Given the description of an element on the screen output the (x, y) to click on. 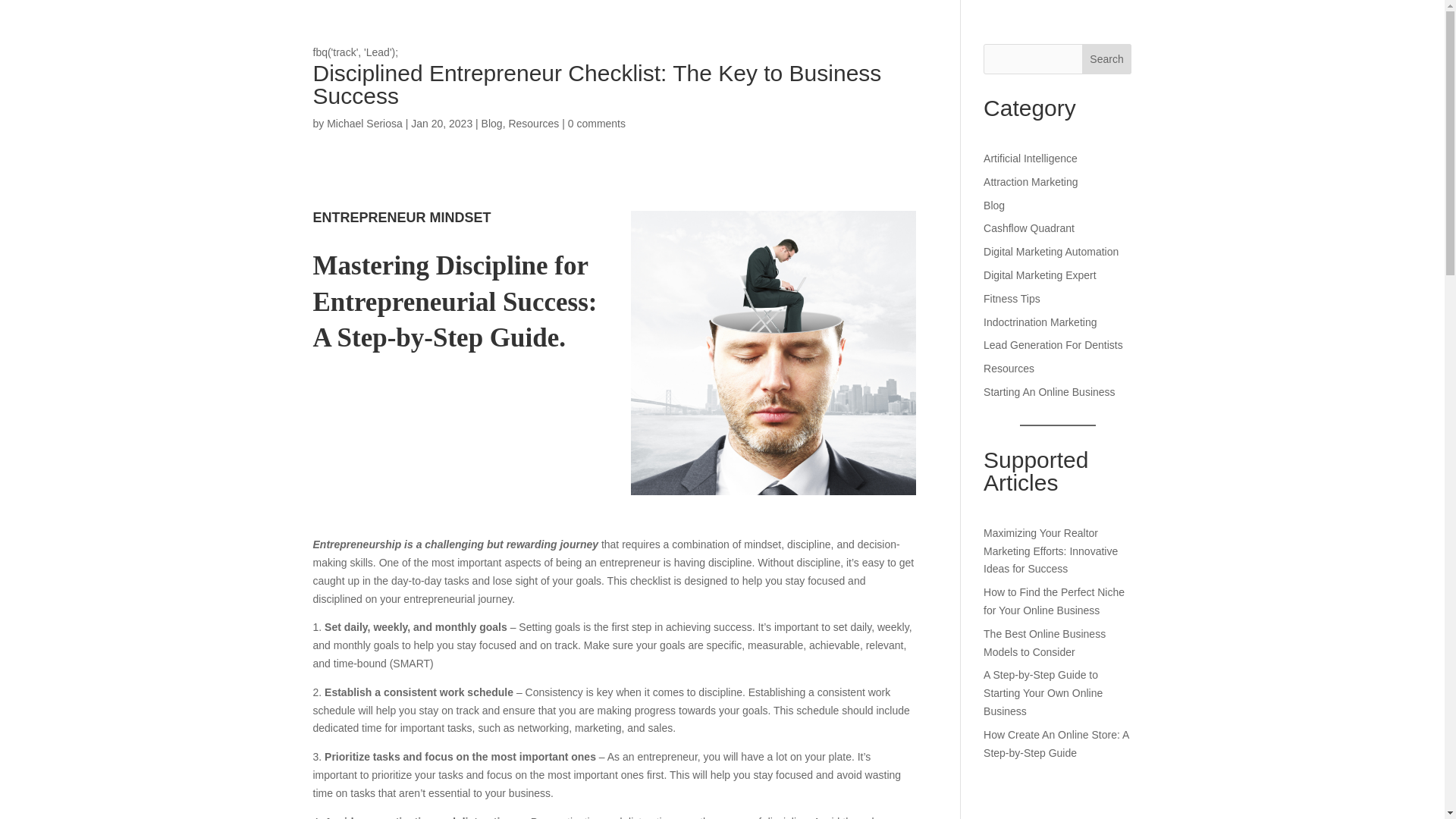
0 comments (596, 123)
Search (1106, 59)
How to Find the Perfect Niche for Your Online Business (1054, 601)
Digital Marketing Automation (1051, 251)
Michael Seriosa (364, 123)
Indoctrination Marketing (1040, 322)
entrepreneur mindset (772, 353)
Fitness Tips (1012, 298)
Posts by Michael Seriosa (364, 123)
Cashflow Quadrant (1029, 227)
Lead Generation For Dentists (1053, 345)
Blog (491, 123)
Artificial Intelligence (1030, 158)
Attraction Marketing (1031, 182)
